Given the description of an element on the screen output the (x, y) to click on. 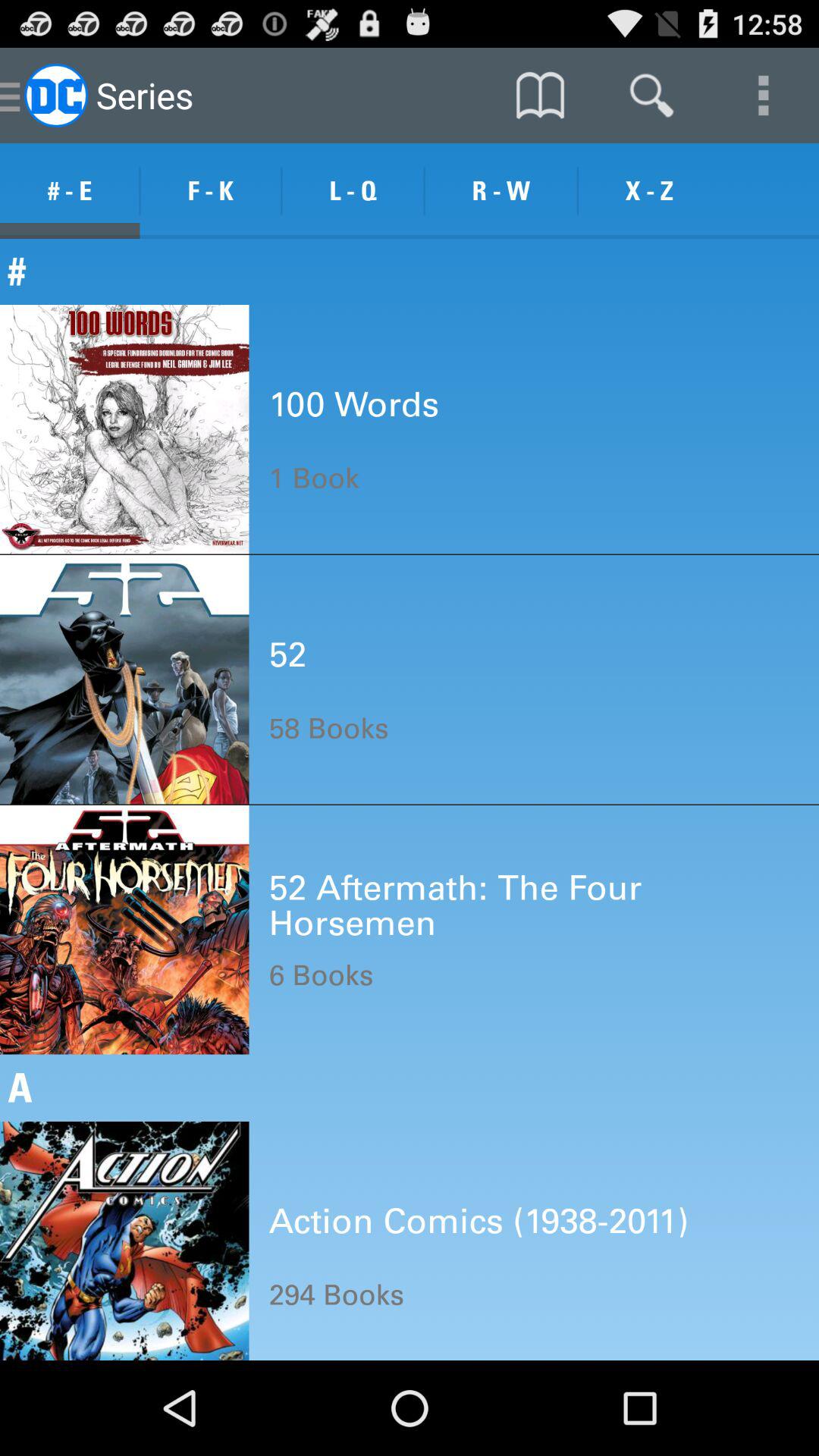
open icon below # icon (354, 404)
